Given the description of an element on the screen output the (x, y) to click on. 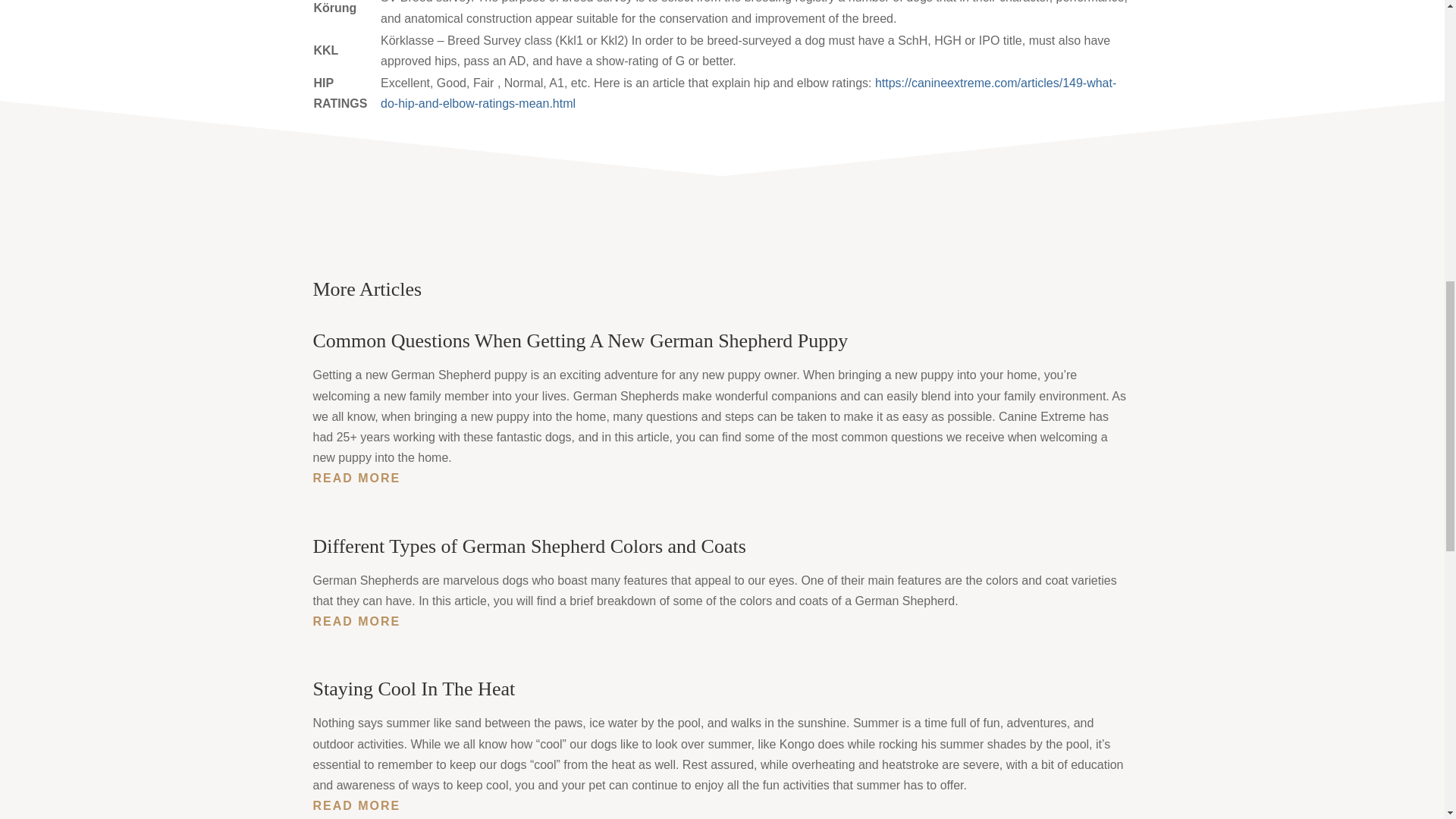
Different Types of German Shepherd Colors and Coats (529, 546)
Staying Cool In The Heat (414, 689)
READ MORE (722, 620)
READ MORE (722, 805)
READ MORE (722, 477)
Common Questions When Getting A New German Shepherd Puppy (580, 341)
